Given the description of an element on the screen output the (x, y) to click on. 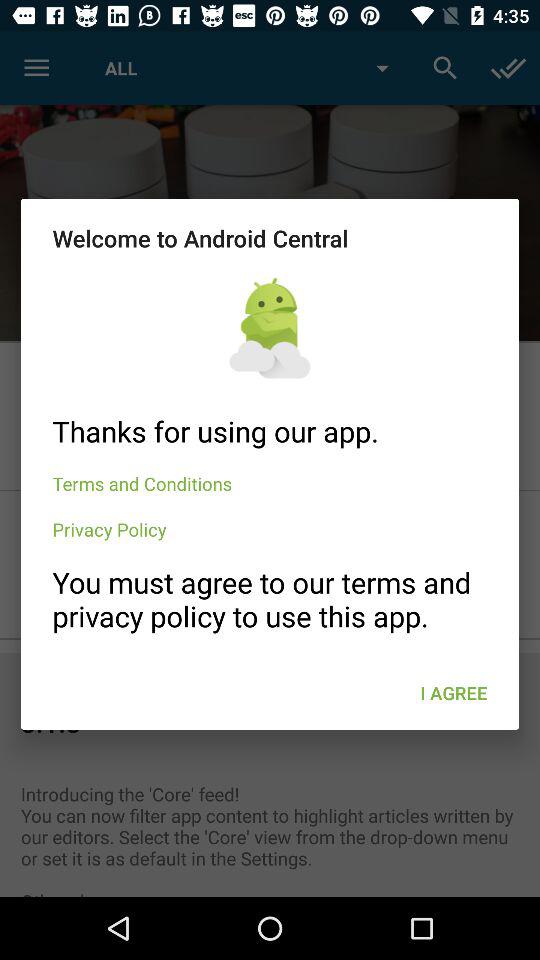
tap the i agree item (453, 692)
